Given the description of an element on the screen output the (x, y) to click on. 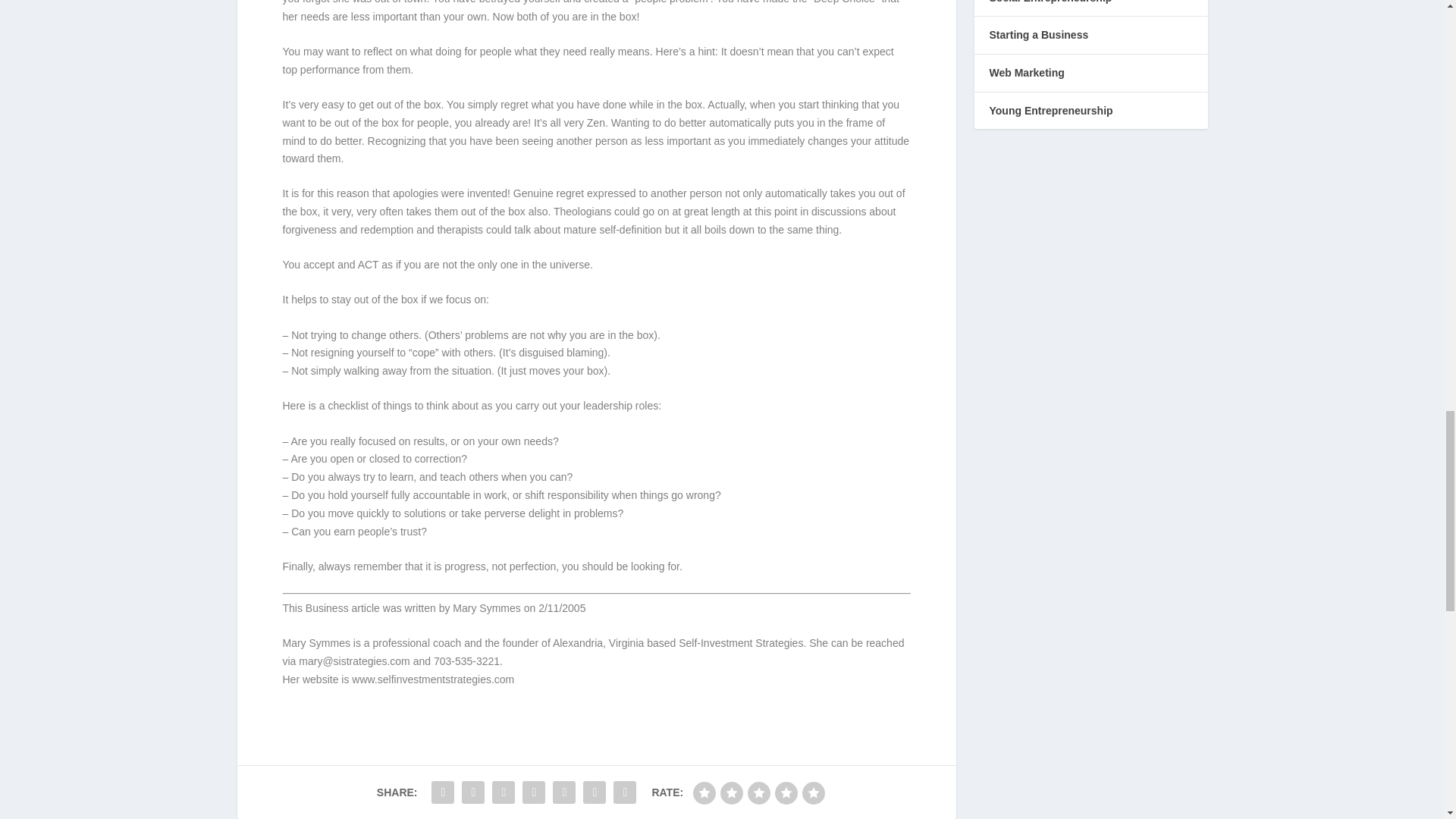
gorgeous (813, 793)
Share "LEADERSHIP AND SELF-DECEPTION" via LinkedIn (533, 792)
Share "LEADERSHIP AND SELF-DECEPTION" via Twitter (472, 792)
bad (704, 793)
Share "LEADERSHIP AND SELF-DECEPTION" via Stumbleupon (563, 792)
Share "LEADERSHIP AND SELF-DECEPTION" via Facebook (443, 792)
Share "LEADERSHIP AND SELF-DECEPTION" via Email (594, 792)
poor (731, 793)
Share "LEADERSHIP AND SELF-DECEPTION" via Print (625, 792)
regular (759, 793)
good (785, 793)
